Given the description of an element on the screen output the (x, y) to click on. 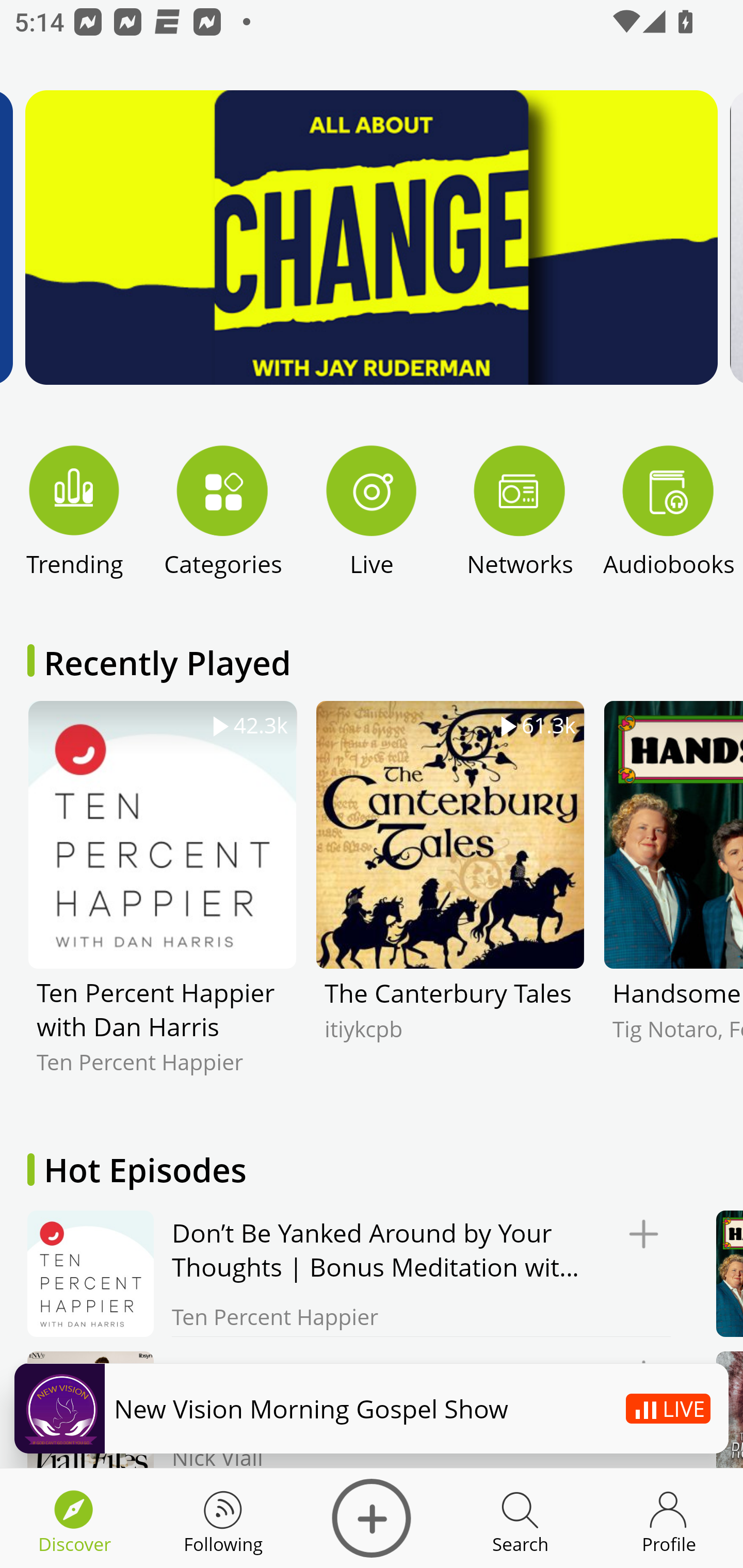
61.3k The Canterbury Tales itiykcpb (450, 902)
Handsome Tig Notaro, Fortune Feimster, Mae Martin (673, 902)
Podbean New Vision Morning Gospel Show LIVE (371, 1407)
Discover Following (222, 1518)
Discover (371, 1518)
Discover Search (519, 1518)
Discover Profile (668, 1518)
